Given the description of an element on the screen output the (x, y) to click on. 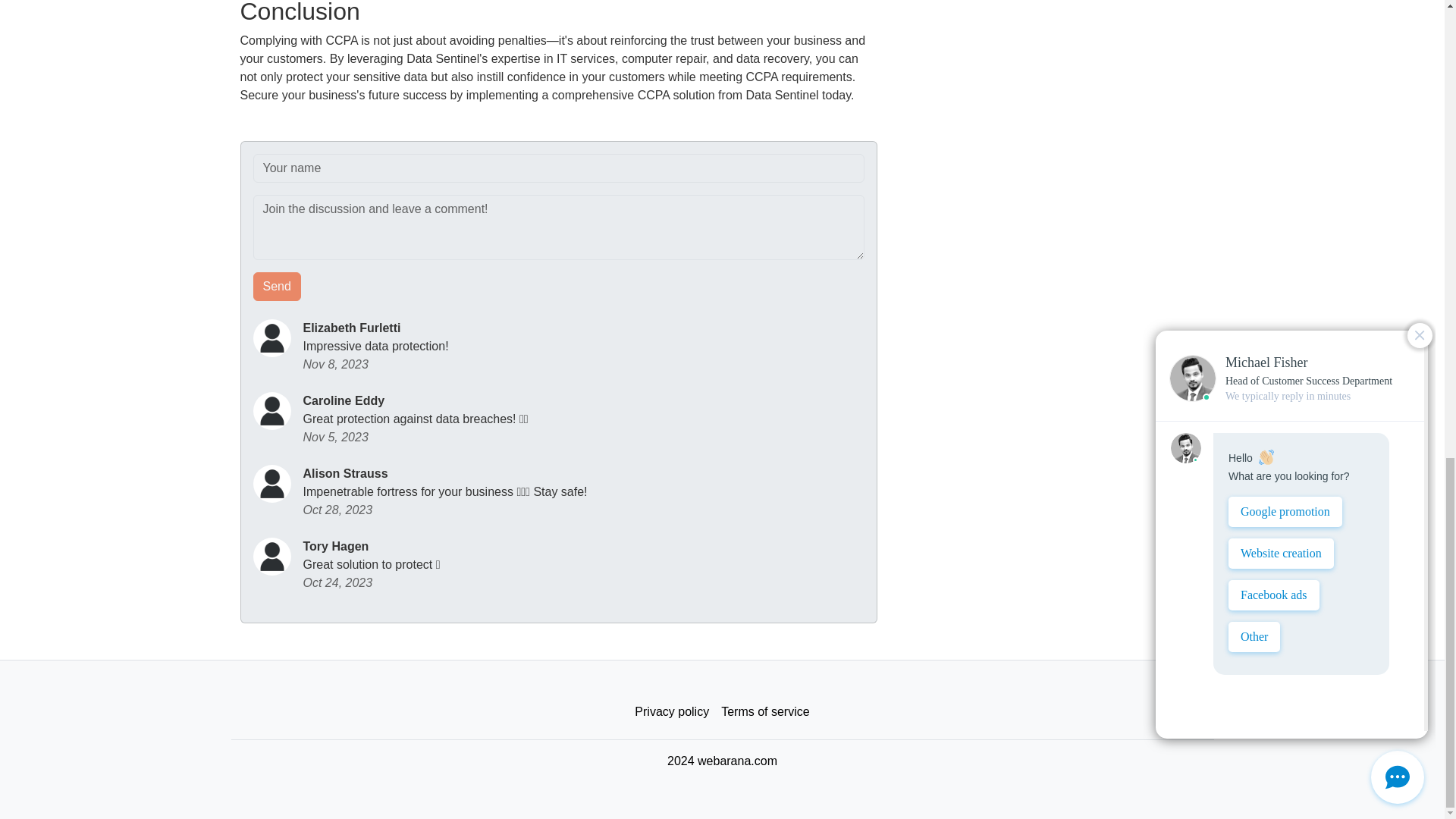
Privacy policy (671, 711)
Terms of service (764, 711)
Send (277, 286)
Send (277, 286)
